Given the description of an element on the screen output the (x, y) to click on. 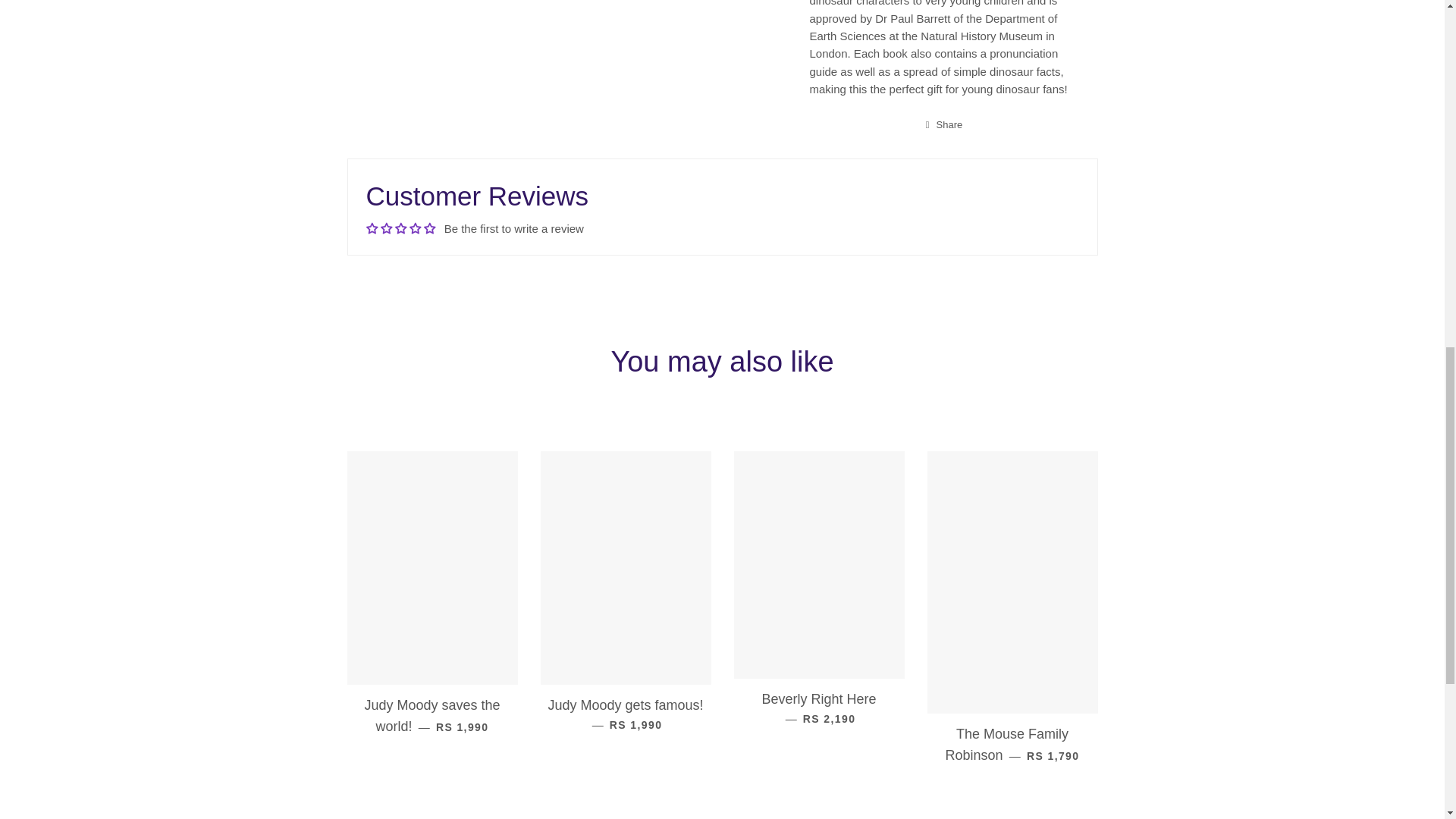
Share on Facebook (944, 124)
